Given the description of an element on the screen output the (x, y) to click on. 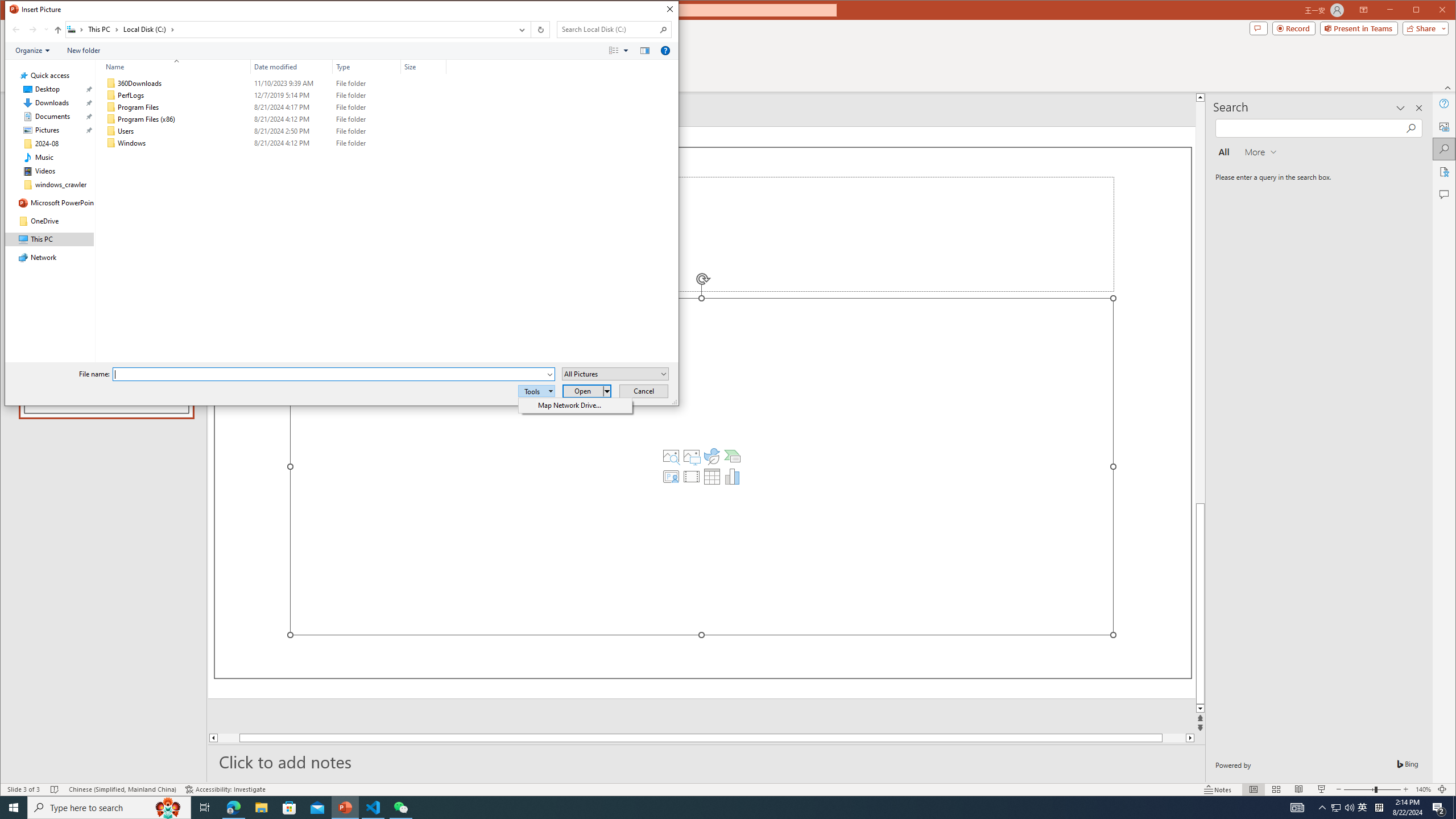
Views (621, 50)
Search highlights icon opens search home window (167, 807)
Show desktop (1454, 807)
PerfLogs (273, 95)
Cancel (643, 391)
Notification Chevron (1322, 807)
Insert Video (691, 476)
Insert Chart (732, 476)
Insert Table (711, 476)
Search (663, 29)
Filter dropdown (440, 66)
